Given the description of an element on the screen output the (x, y) to click on. 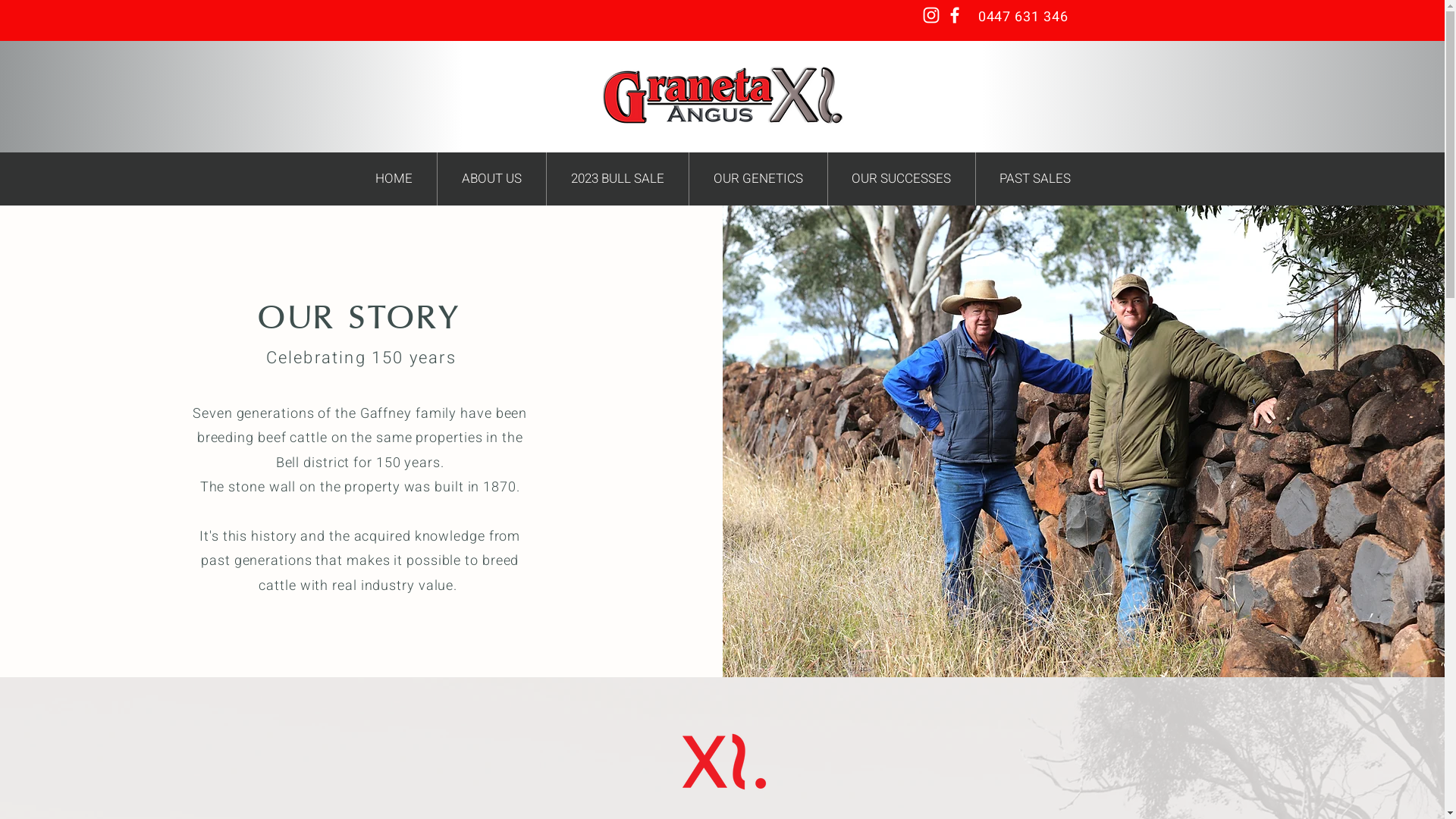
2023 BULL SALE Element type: text (617, 178)
ABOUT US Element type: text (491, 178)
OUR GENETICS Element type: text (757, 178)
HOME Element type: text (393, 178)
OUR SUCCESSES Element type: text (900, 178)
PAST SALES Element type: text (1035, 178)
